Given the description of an element on the screen output the (x, y) to click on. 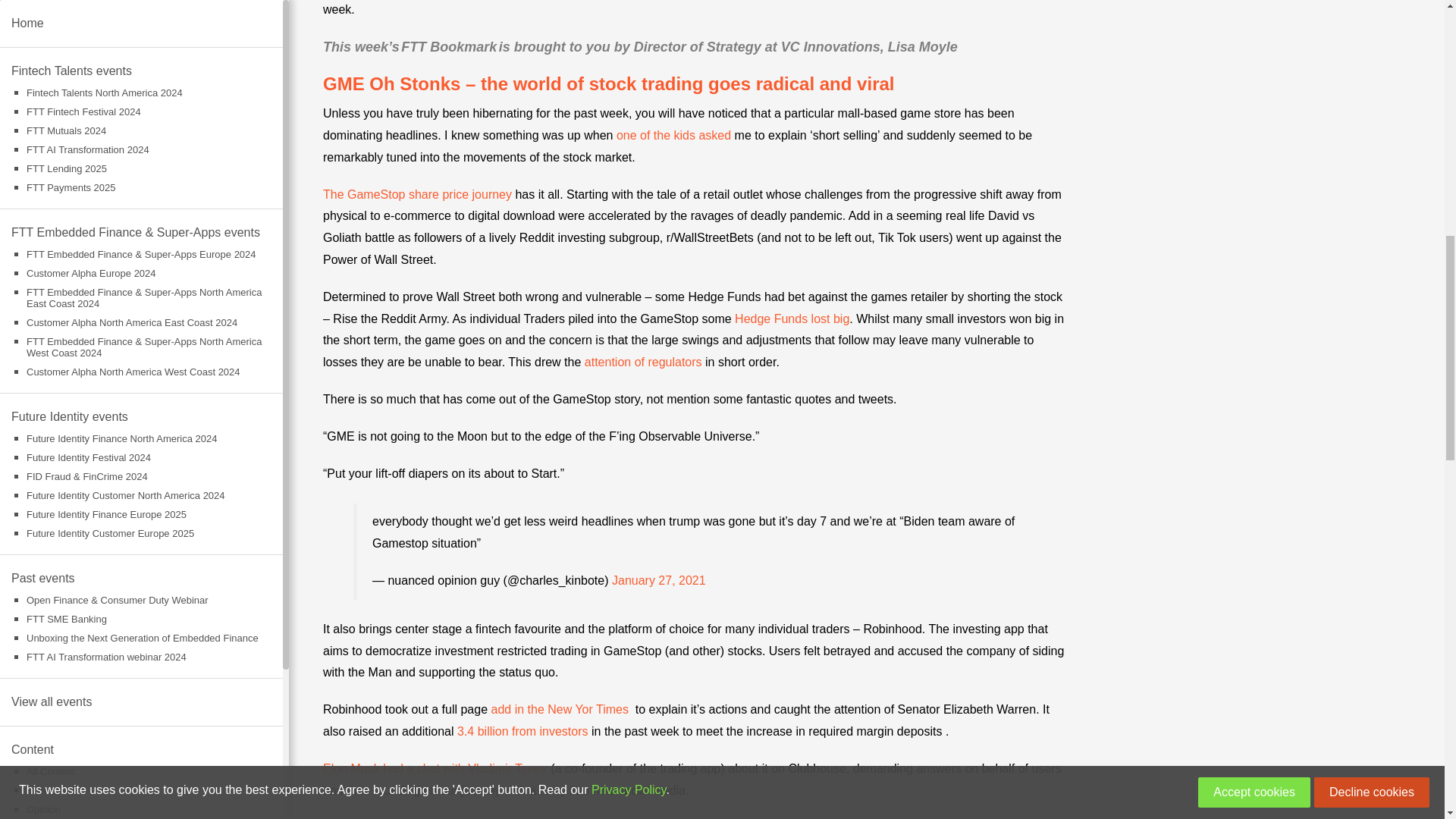
Twitter (136, 127)
Facebook (30, 127)
add in the New Yor Times (560, 708)
Hedge Funds lost big (791, 318)
The GameStop share price journey (417, 194)
Instagram (101, 127)
January 27, 2021 (658, 580)
one of the kids asked (672, 134)
Default Label (65, 127)
3.4 billion from investors (522, 730)
attention of regulators (643, 361)
Elon Musk had a chat with Vladimir Tenev (435, 768)
